Given the description of an element on the screen output the (x, y) to click on. 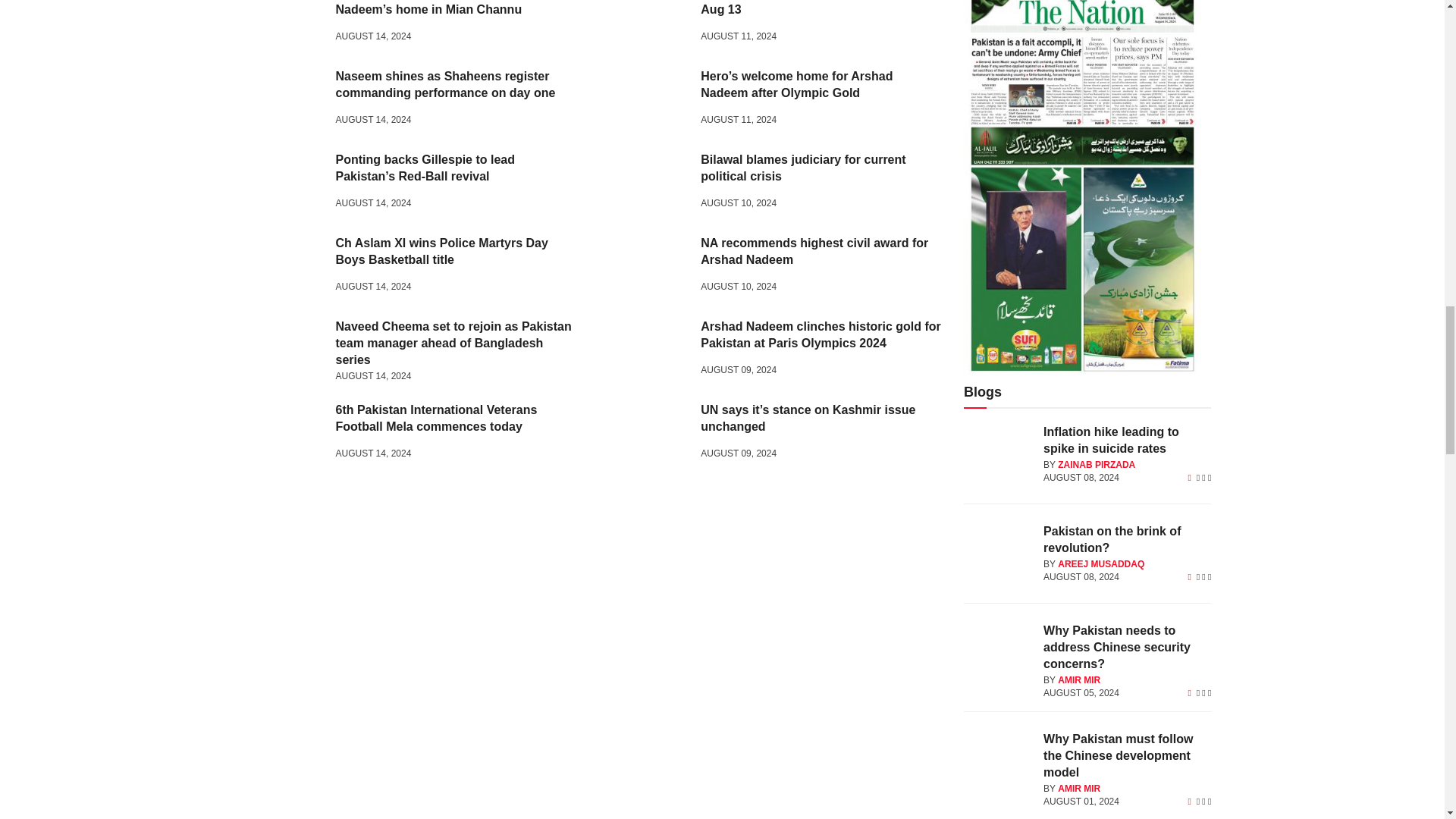
NA recommends highest civil award for Arshad Nadeem (643, 267)
Bilawal blames judiciary for current political crisis (643, 183)
Ch Aslam XI wins Police Martyrs Day Boys Basketball title (278, 267)
